Given the description of an element on the screen output the (x, y) to click on. 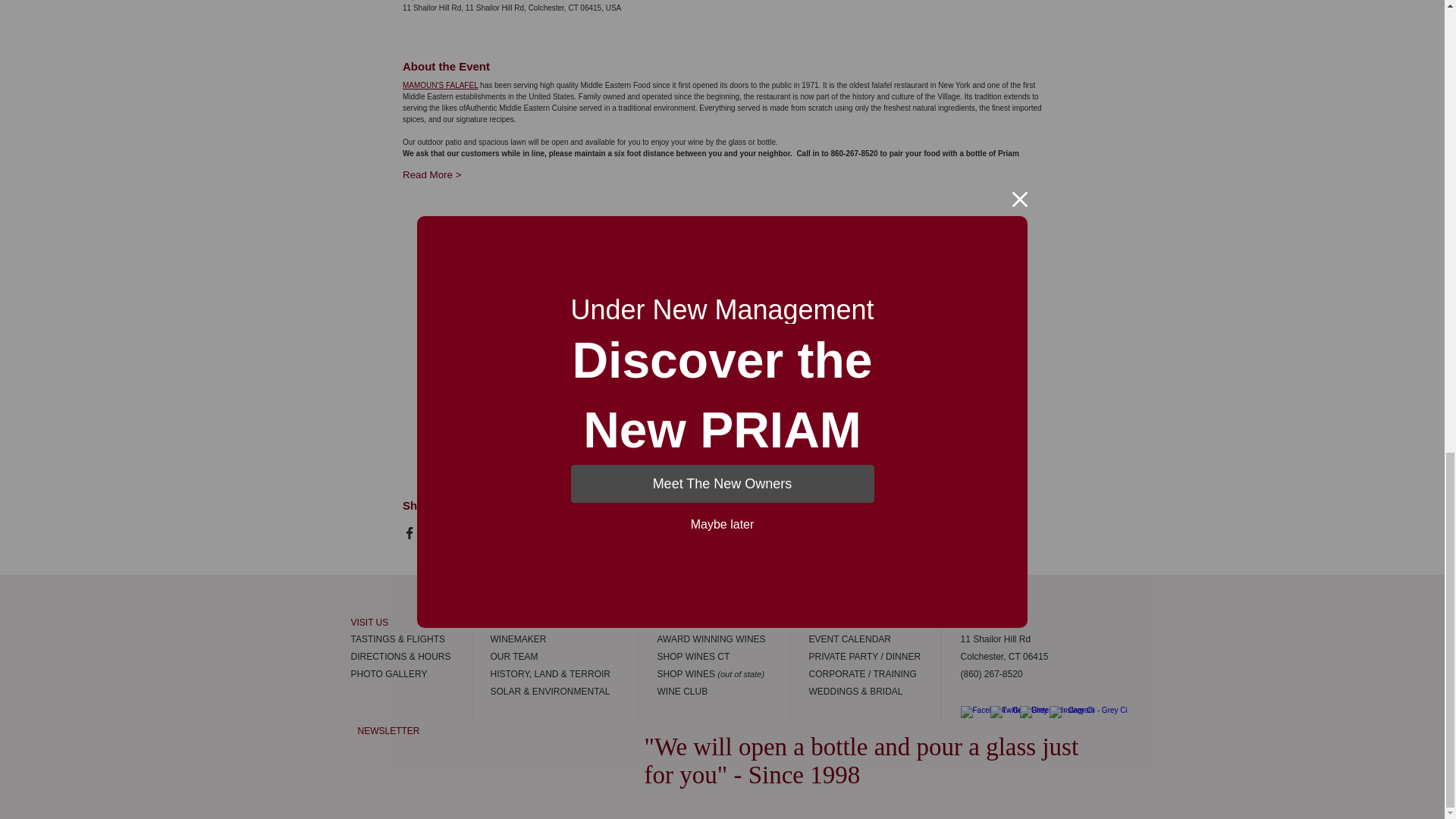
Embedded Content (496, 765)
MAMOUN'S FALAFEL (440, 85)
